Given the description of an element on the screen output the (x, y) to click on. 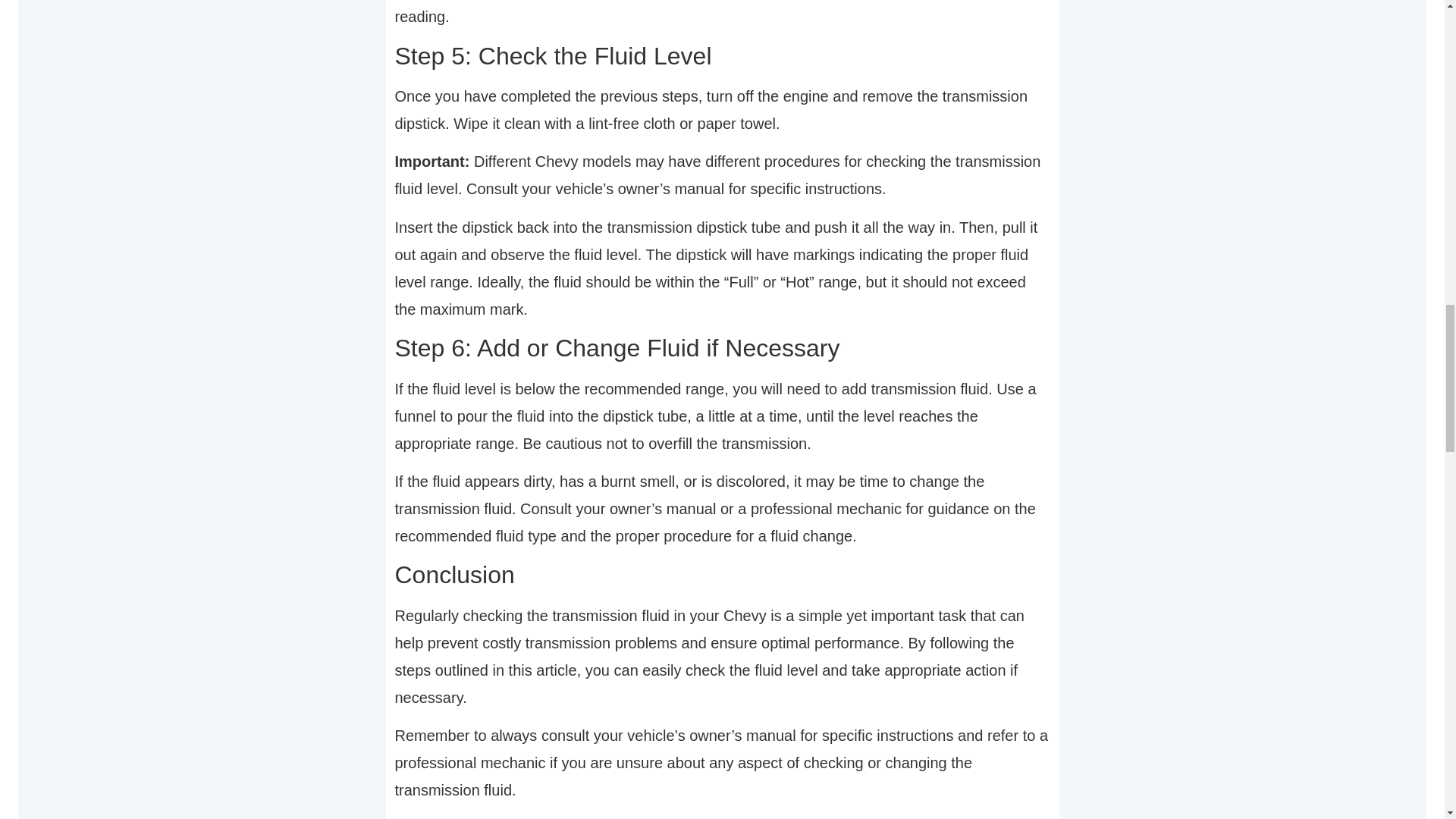
Step 6: Add or Change Fluid if Necessary (721, 347)
Step 5: Check the Fluid Level (721, 55)
Conclusion (721, 574)
